Given the description of an element on the screen output the (x, y) to click on. 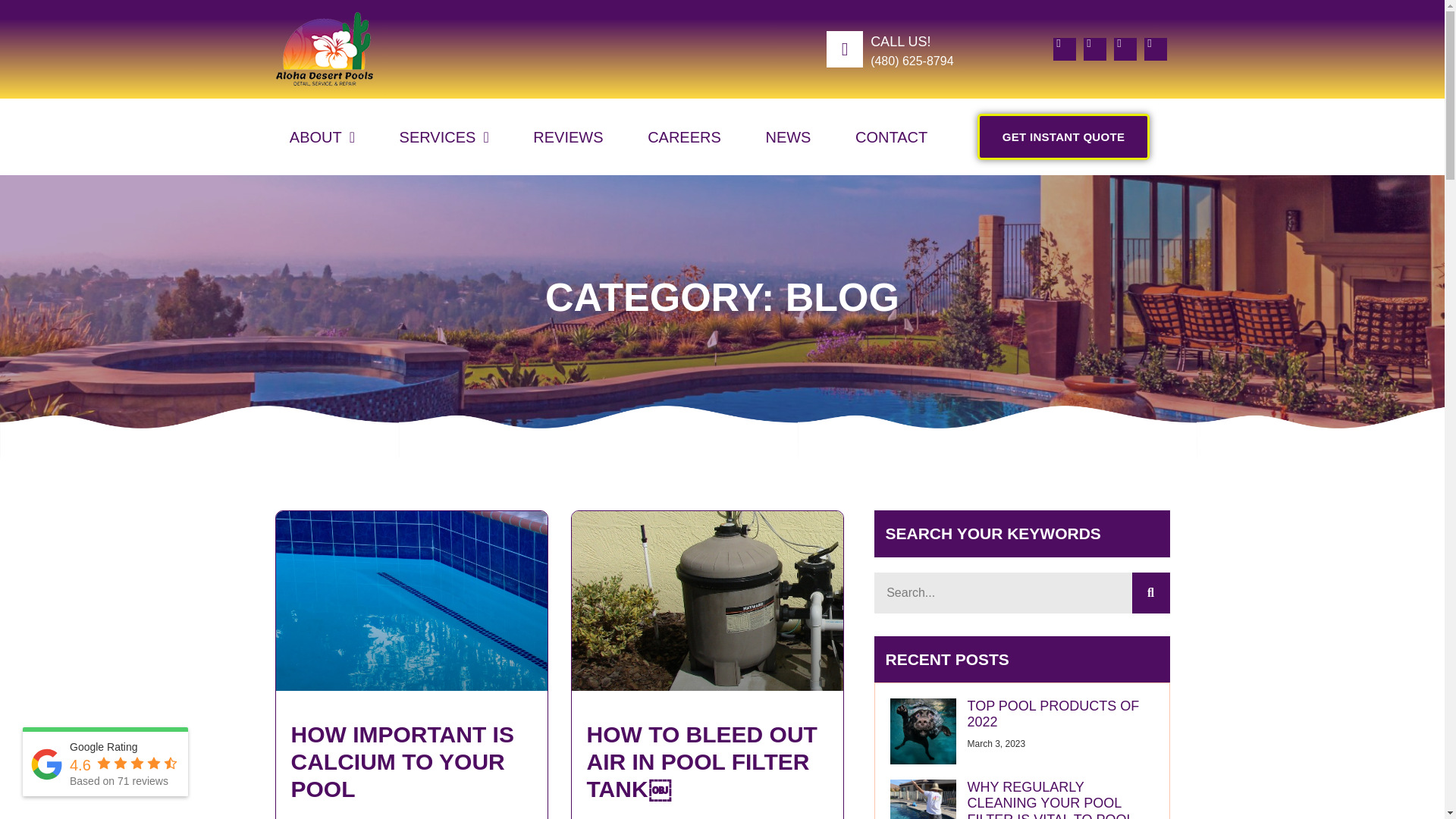
ABOUT (321, 136)
REVIEWS (568, 136)
SERVICES (444, 136)
